Given the description of an element on the screen output the (x, y) to click on. 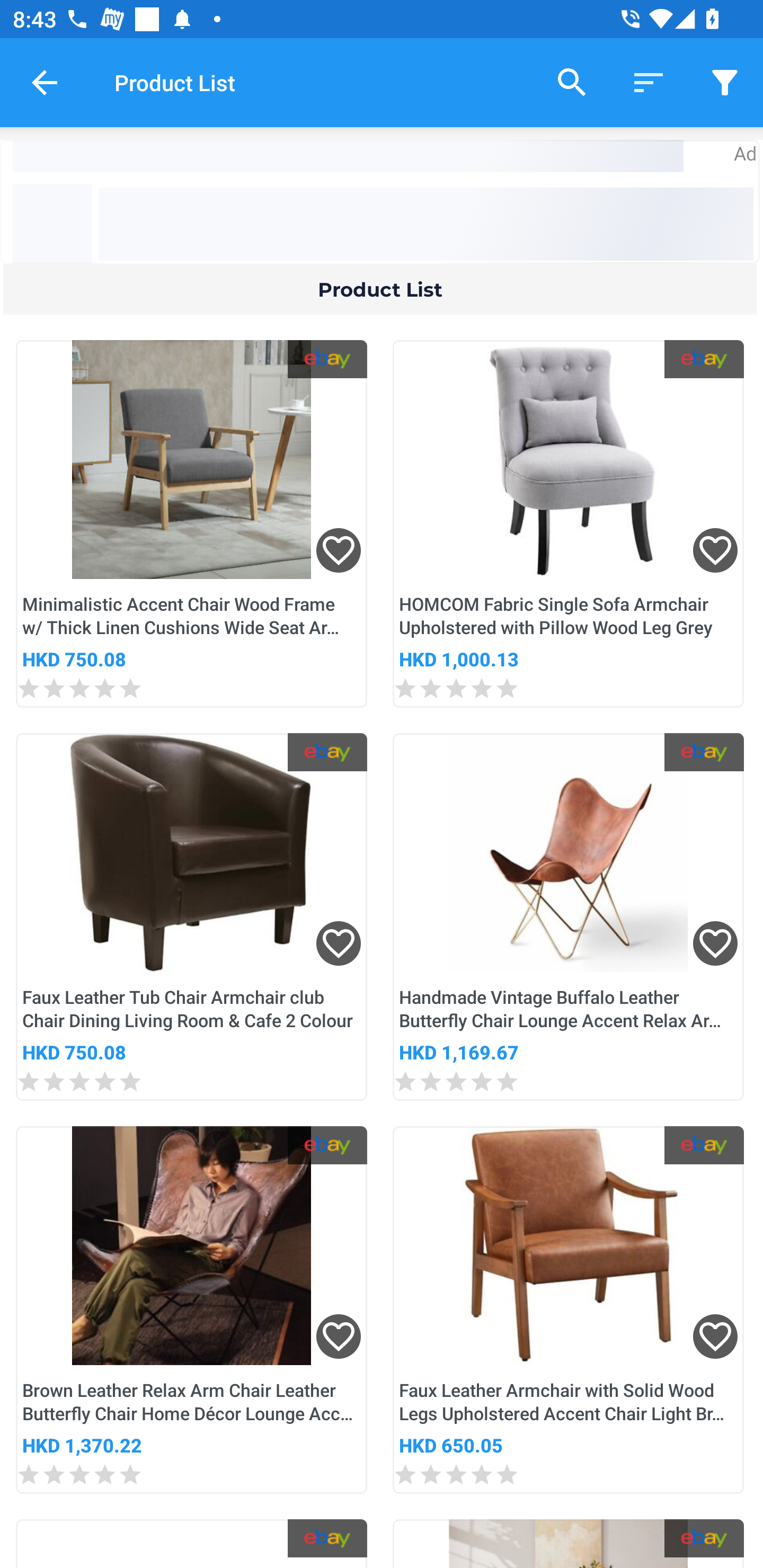
Navigate up (44, 82)
Search (572, 81)
short (648, 81)
short (724, 81)
